Given the description of an element on the screen output the (x, y) to click on. 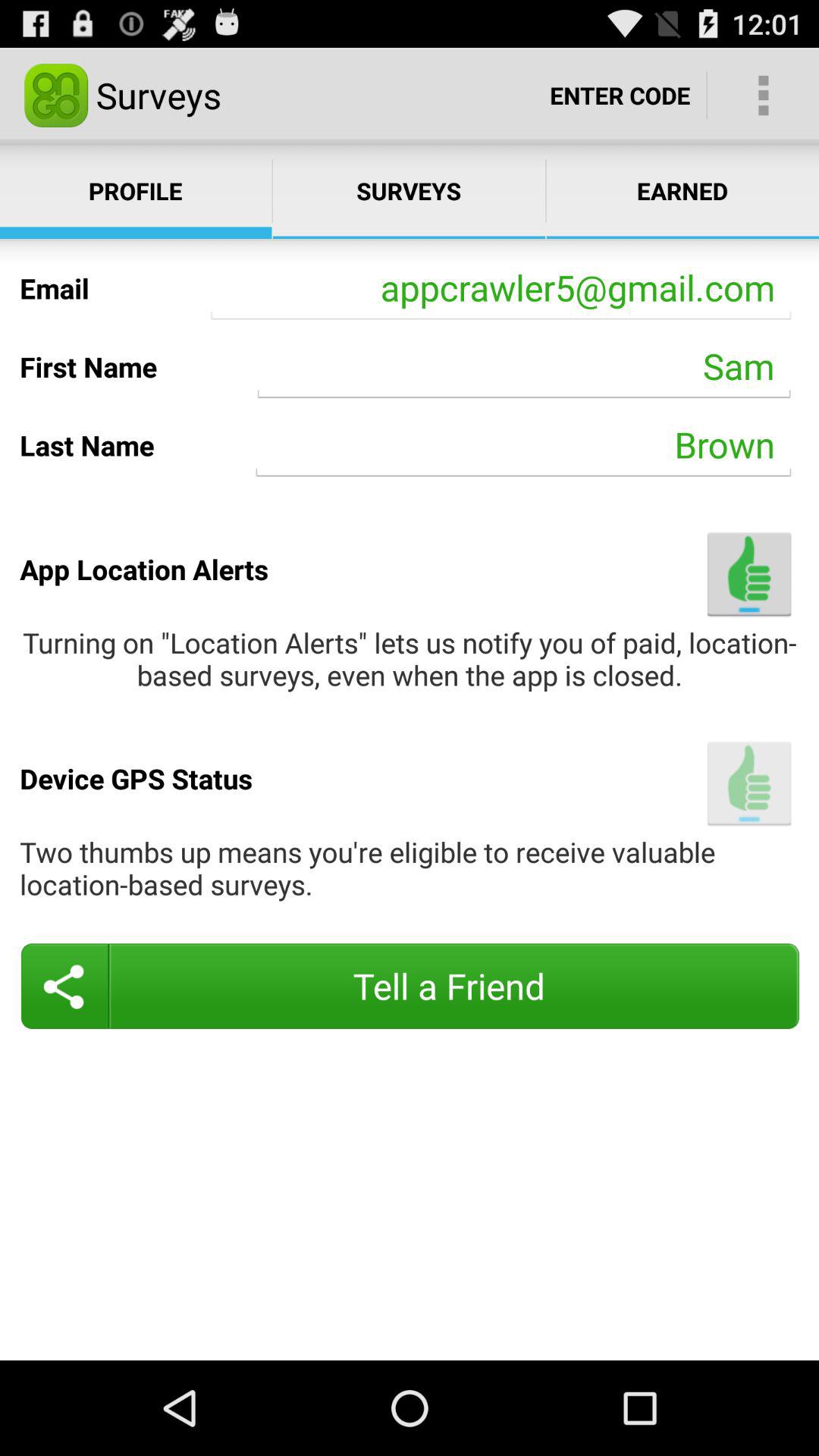
press the item to the right of the app location alerts item (749, 573)
